Given the description of an element on the screen output the (x, y) to click on. 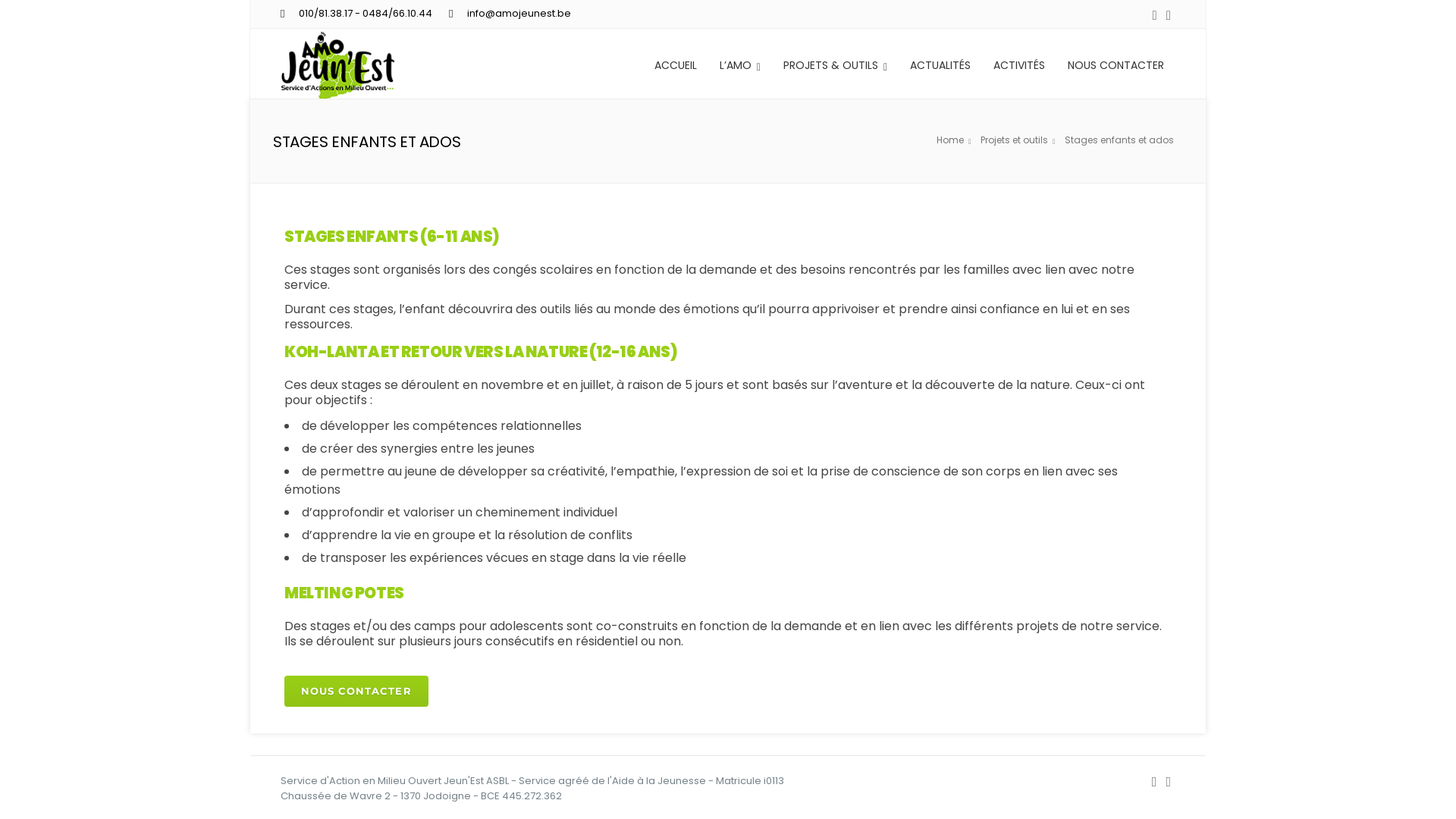
Projets et outils Element type: text (1020, 140)
Instagram Element type: hover (1167, 781)
NOUS CONTACTER Element type: text (1115, 63)
ACCUEIL Element type: text (675, 63)
NOUS CONTACTER Element type: text (356, 690)
Instagram Element type: hover (1168, 15)
PROJETS & OUTILS Element type: text (834, 63)
Home Element type: text (955, 140)
Stages enfants et ados Element type: text (1121, 139)
Facebook Element type: hover (1154, 781)
Facebook Element type: hover (1154, 15)
